Given the description of an element on the screen output the (x, y) to click on. 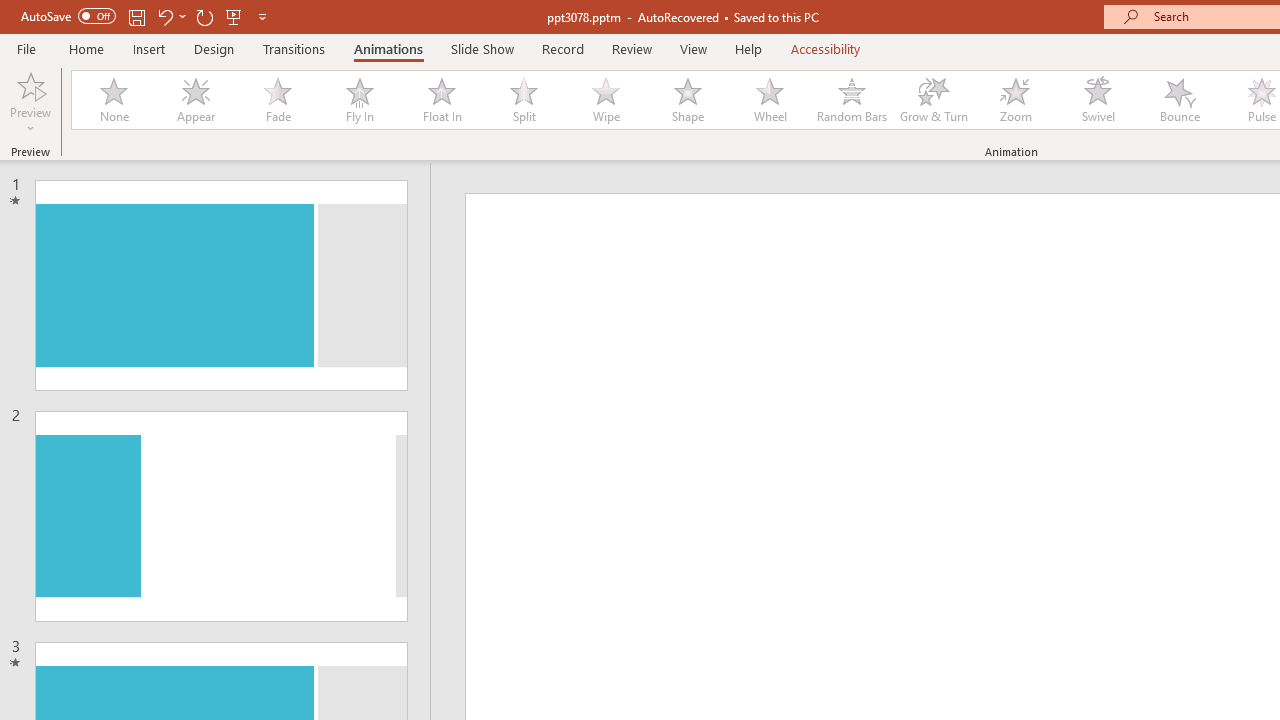
Preview (30, 84)
Wipe (605, 100)
Bounce (1180, 100)
Appear (195, 100)
